Given the description of an element on the screen output the (x, y) to click on. 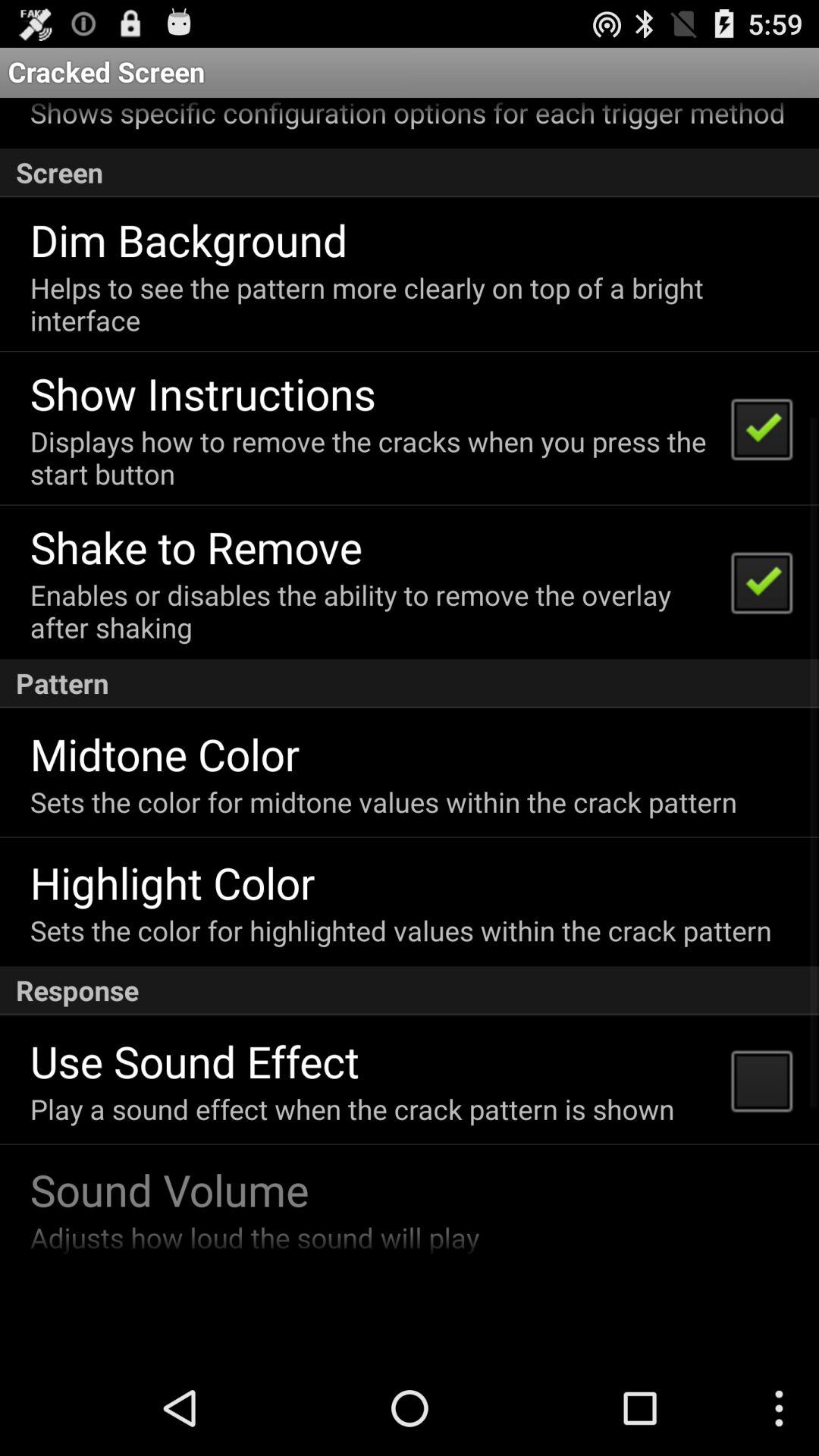
swipe to the adjusts how loud app (254, 1237)
